Given the description of an element on the screen output the (x, y) to click on. 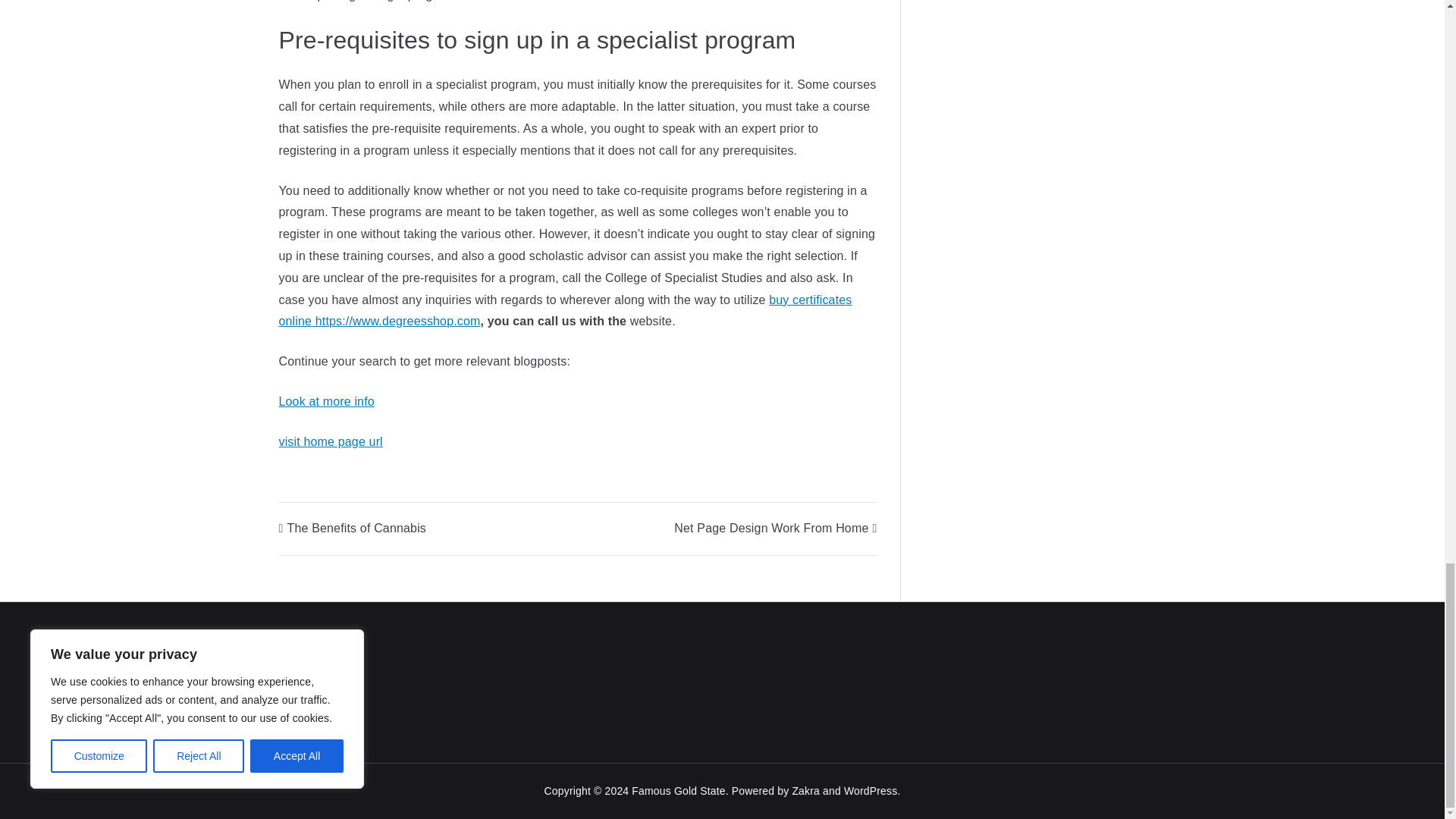
The Benefits of Cannabis (352, 527)
Net Page Design Work From Home (775, 527)
Look at more info (326, 400)
visit home page url (330, 440)
Famous Gold State (678, 790)
Zakra (805, 790)
WordPress (870, 790)
